Given the description of an element on the screen output the (x, y) to click on. 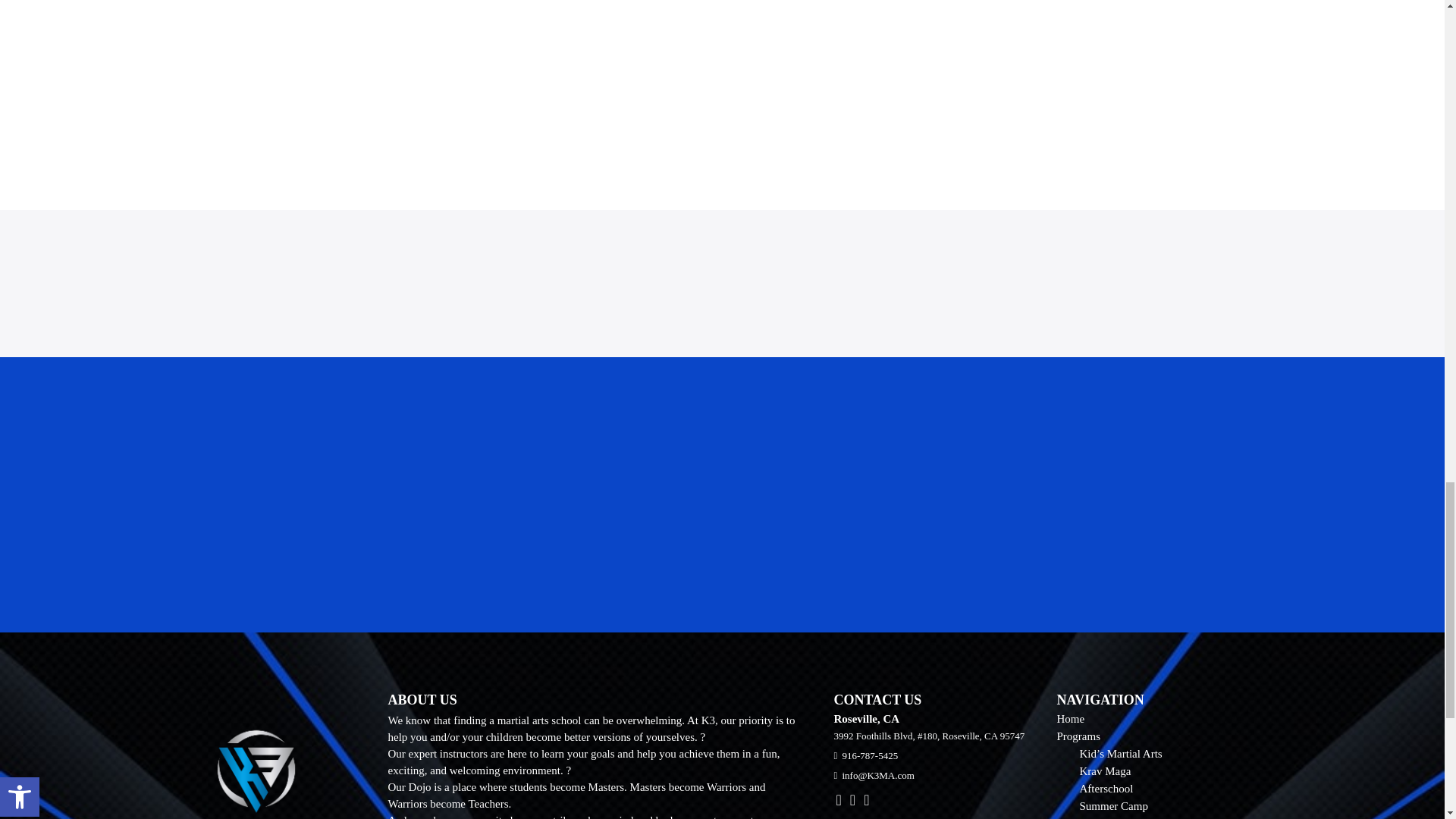
Accessibility Tools (19, 796)
Accessibility Tools (19, 796)
